Given the description of an element on the screen output the (x, y) to click on. 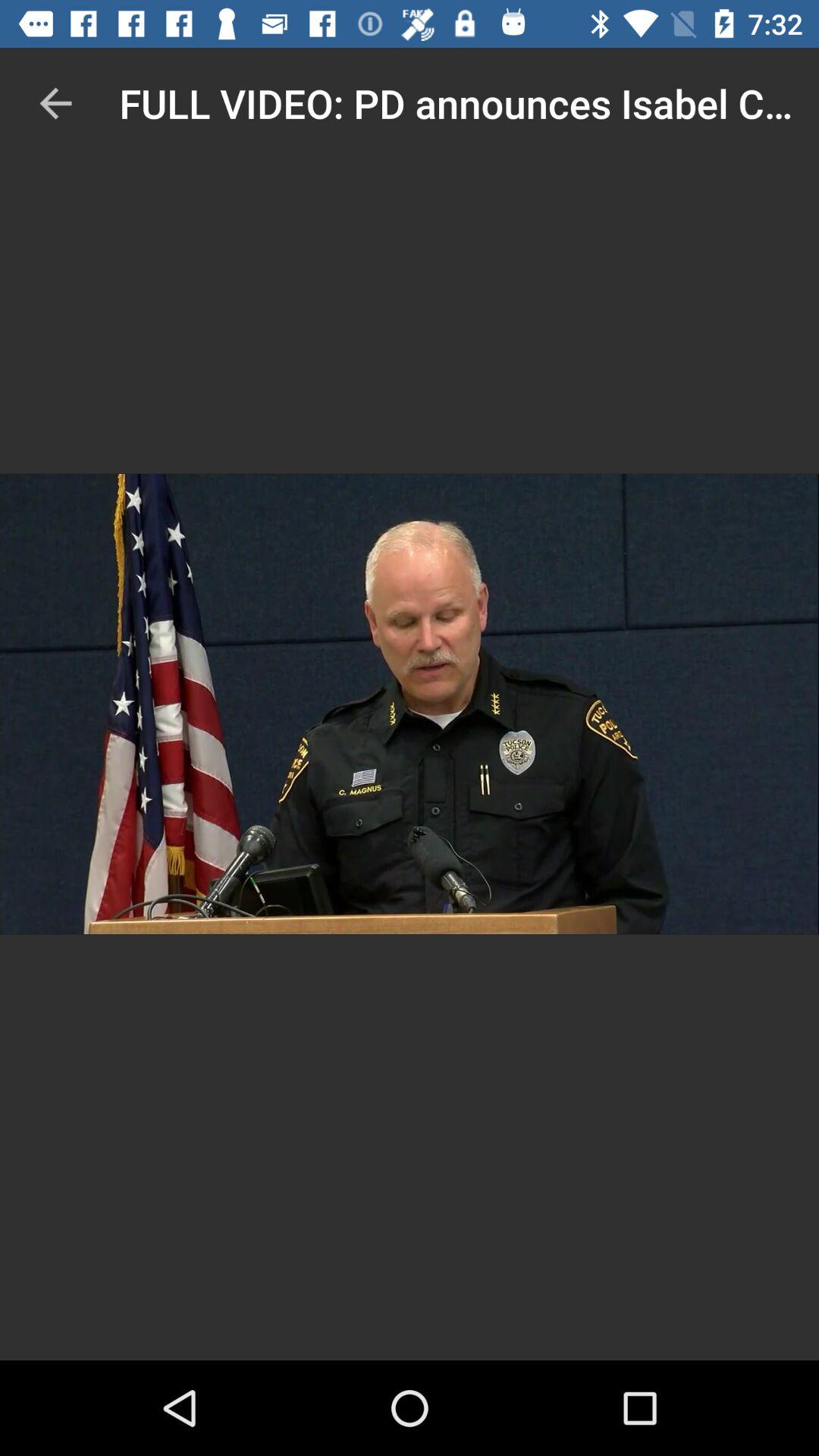
open the item at the top left corner (55, 103)
